Given the description of an element on the screen output the (x, y) to click on. 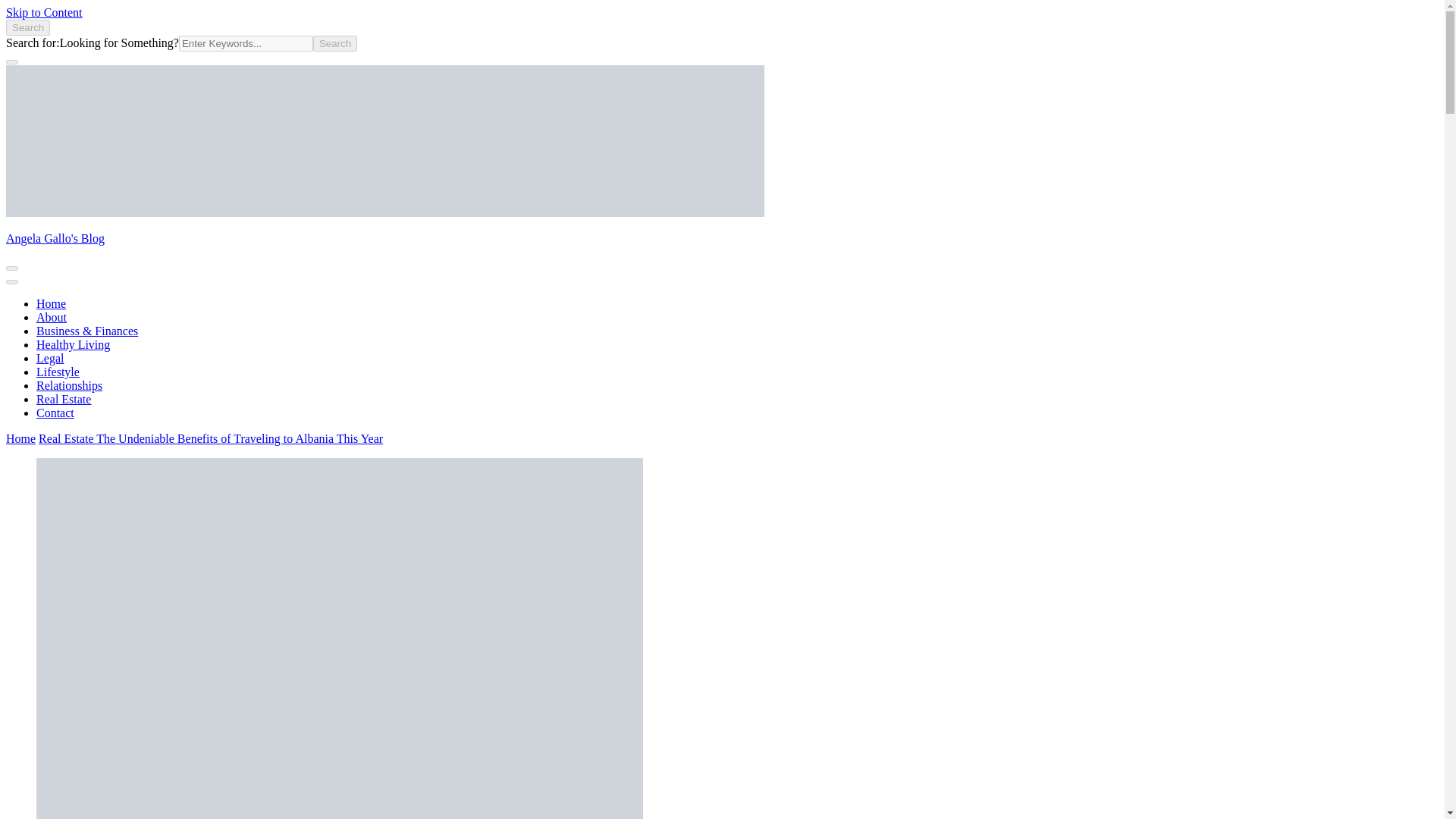
Legal (50, 358)
Angela Gallo's Blog (54, 237)
The Undeniable Benefits of Traveling to Albania This Year (239, 438)
Search (27, 27)
Relationships (68, 385)
Real Estate (67, 438)
Search (334, 43)
Search (334, 43)
Home (50, 303)
Real Estate (63, 399)
Search (334, 43)
Skip to Content (43, 11)
Contact (55, 412)
Lifestyle (58, 371)
About (51, 317)
